Given the description of an element on the screen output the (x, y) to click on. 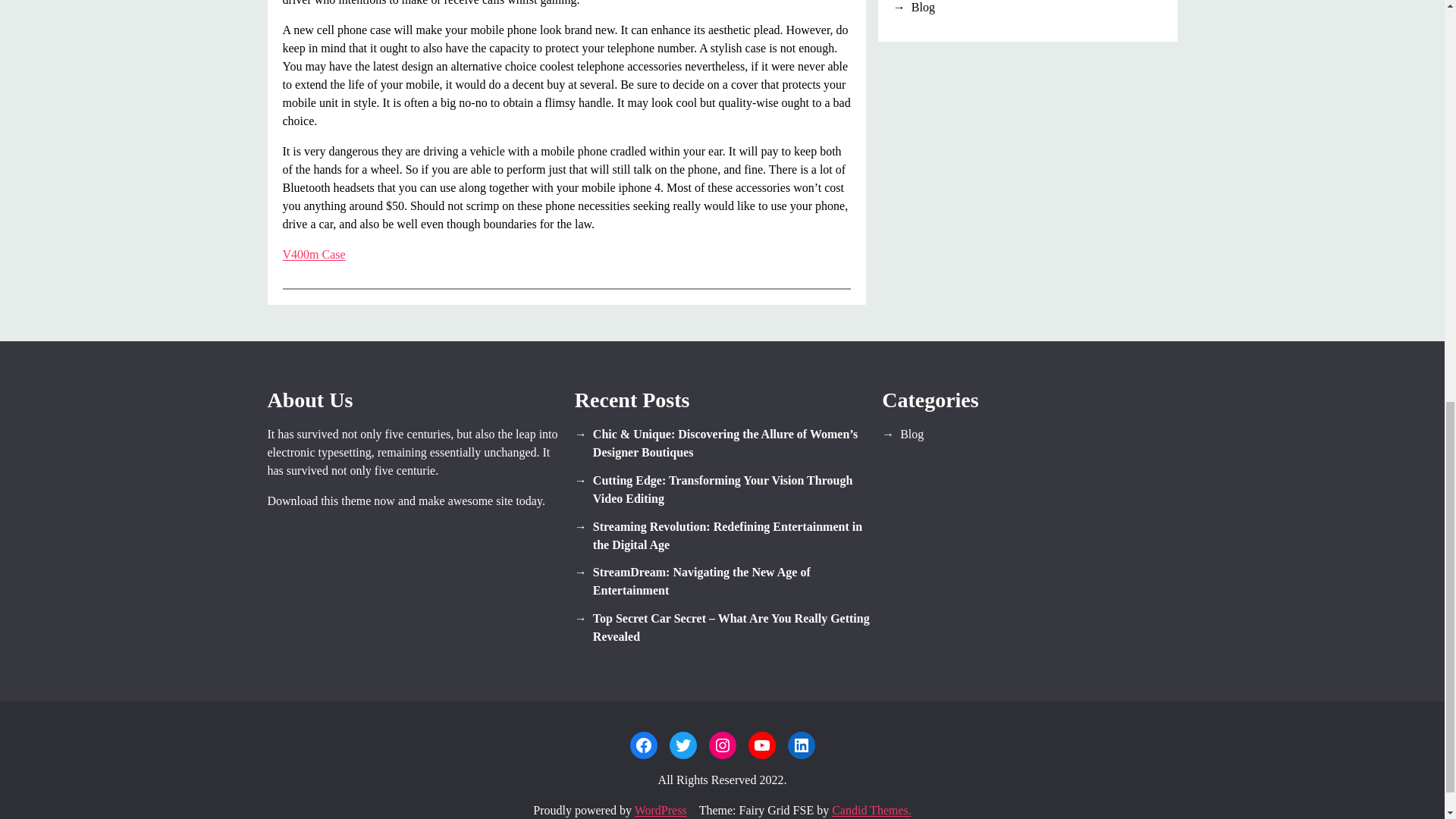
Instagram (721, 745)
Twitter (681, 745)
Blog (1027, 8)
WordPress (660, 809)
V400m Case (313, 254)
Cutting Edge: Transforming Your Vision Through Video Editing (722, 489)
Candid Themes. (871, 809)
LinkedIn (800, 745)
Facebook (642, 745)
